Given the description of an element on the screen output the (x, y) to click on. 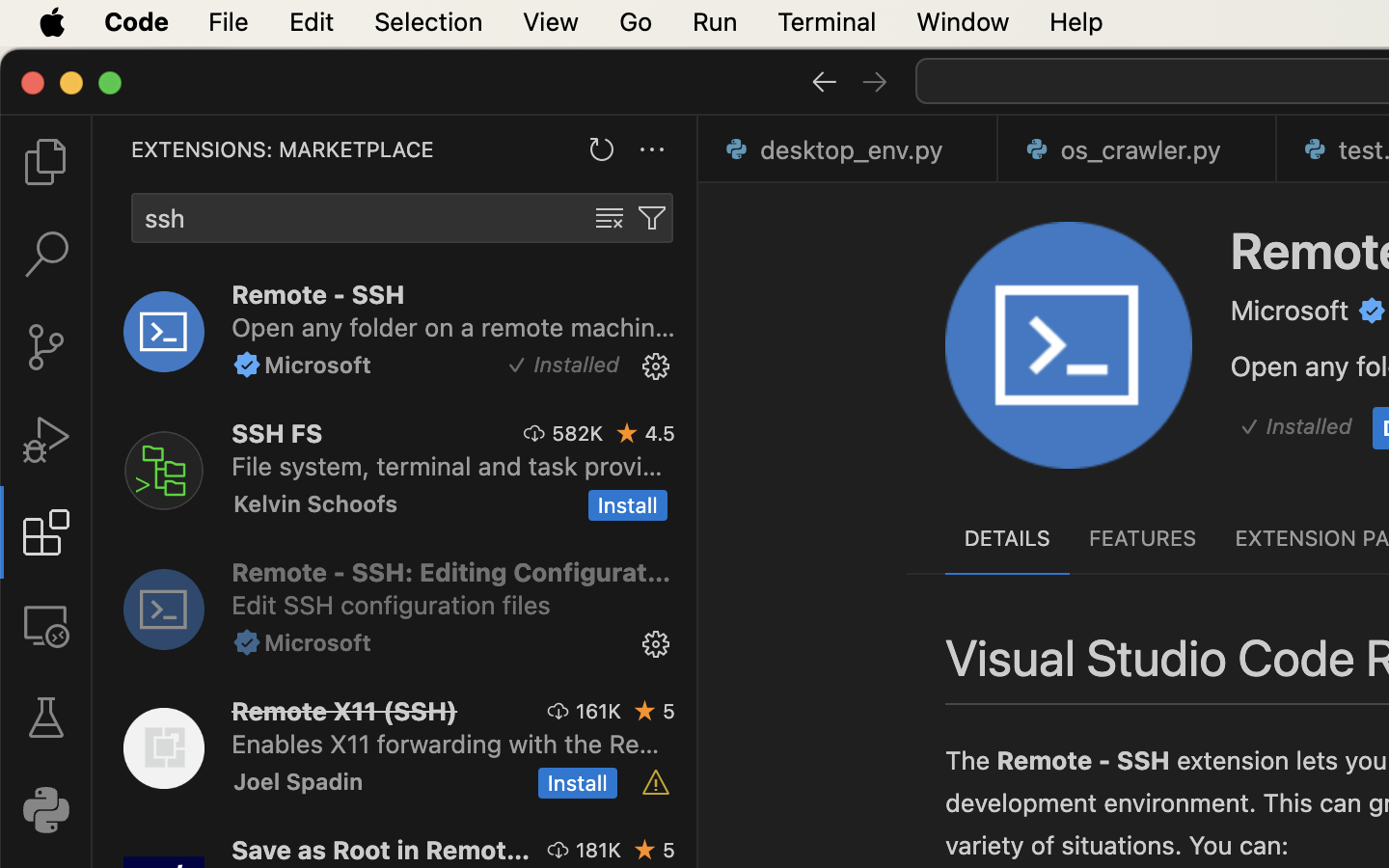
Joel Spadin Element type: AXStaticText (298, 780)
Save as Root in Remote - SSH Element type: AXStaticText (380, 849)
SSH FS Element type: AXStaticText (277, 432)
 Element type: AXButton (655, 366)
Remote X11 (SSH) Element type: AXStaticText (345, 710)
